Given the description of an element on the screen output the (x, y) to click on. 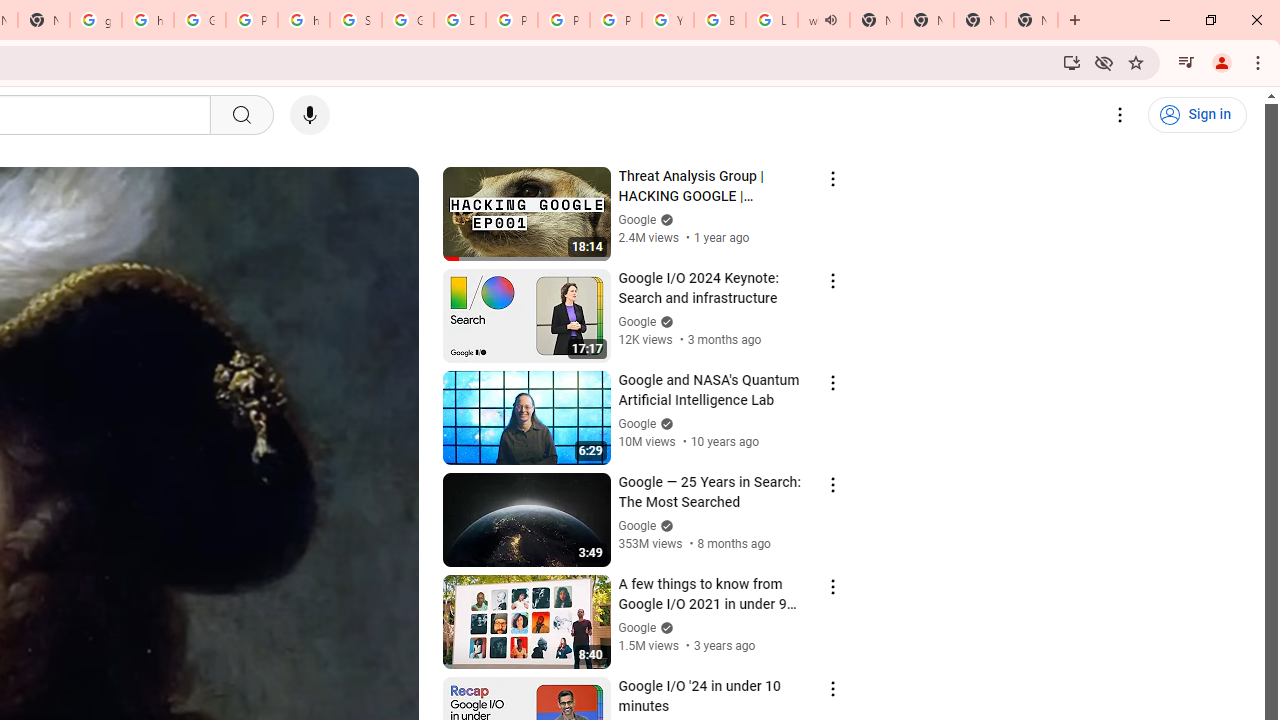
Privacy Help Center - Policies Help (511, 20)
https://scholar.google.com/ (147, 20)
Sign in - Google Accounts (355, 20)
YouTube (667, 20)
